Given the description of an element on the screen output the (x, y) to click on. 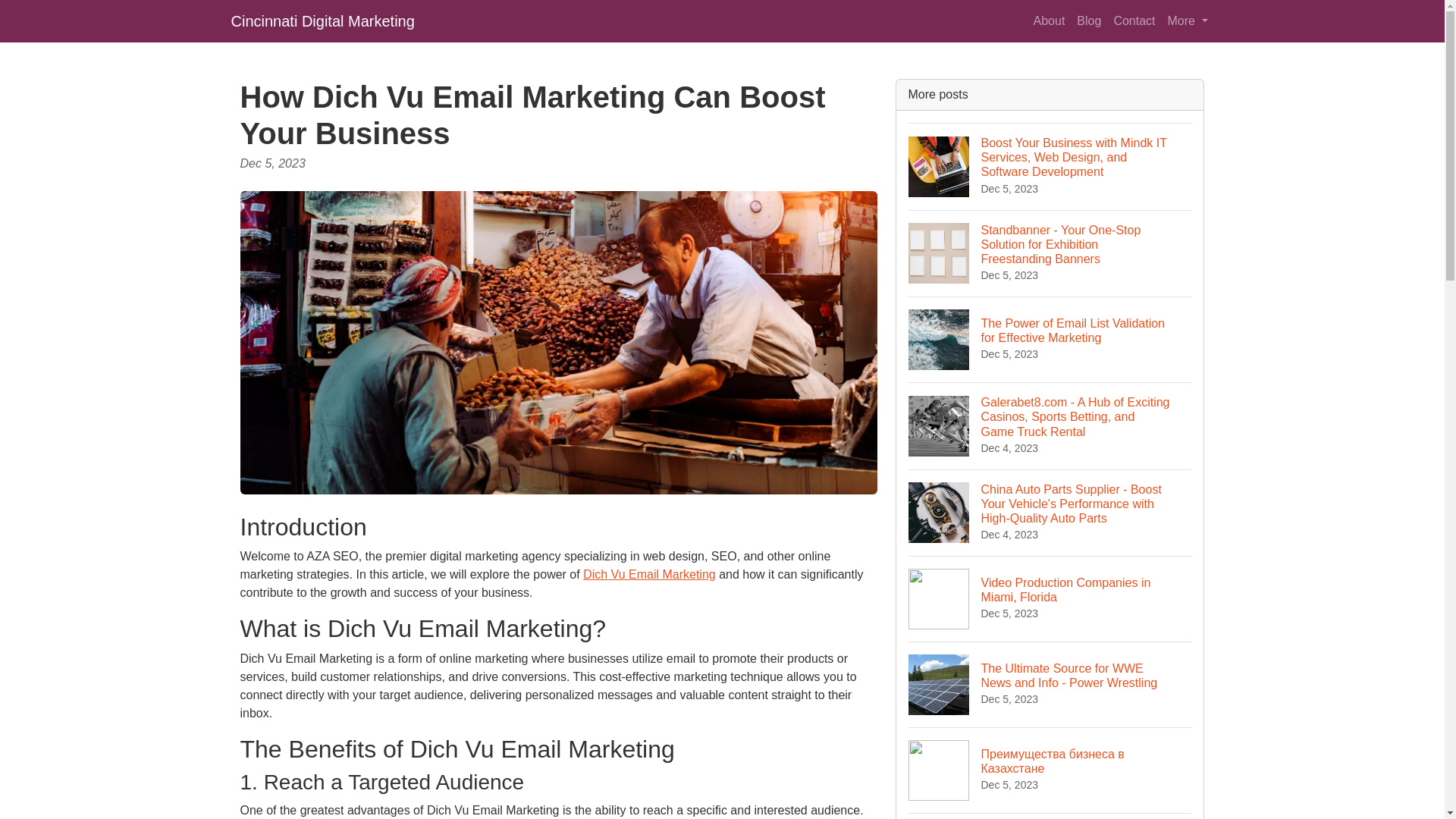
Blog (1088, 20)
About (1049, 20)
Dich Vu Email Marketing (649, 574)
Contact (1133, 20)
Cincinnati Digital Marketing (1050, 598)
More (321, 20)
